Given the description of an element on the screen output the (x, y) to click on. 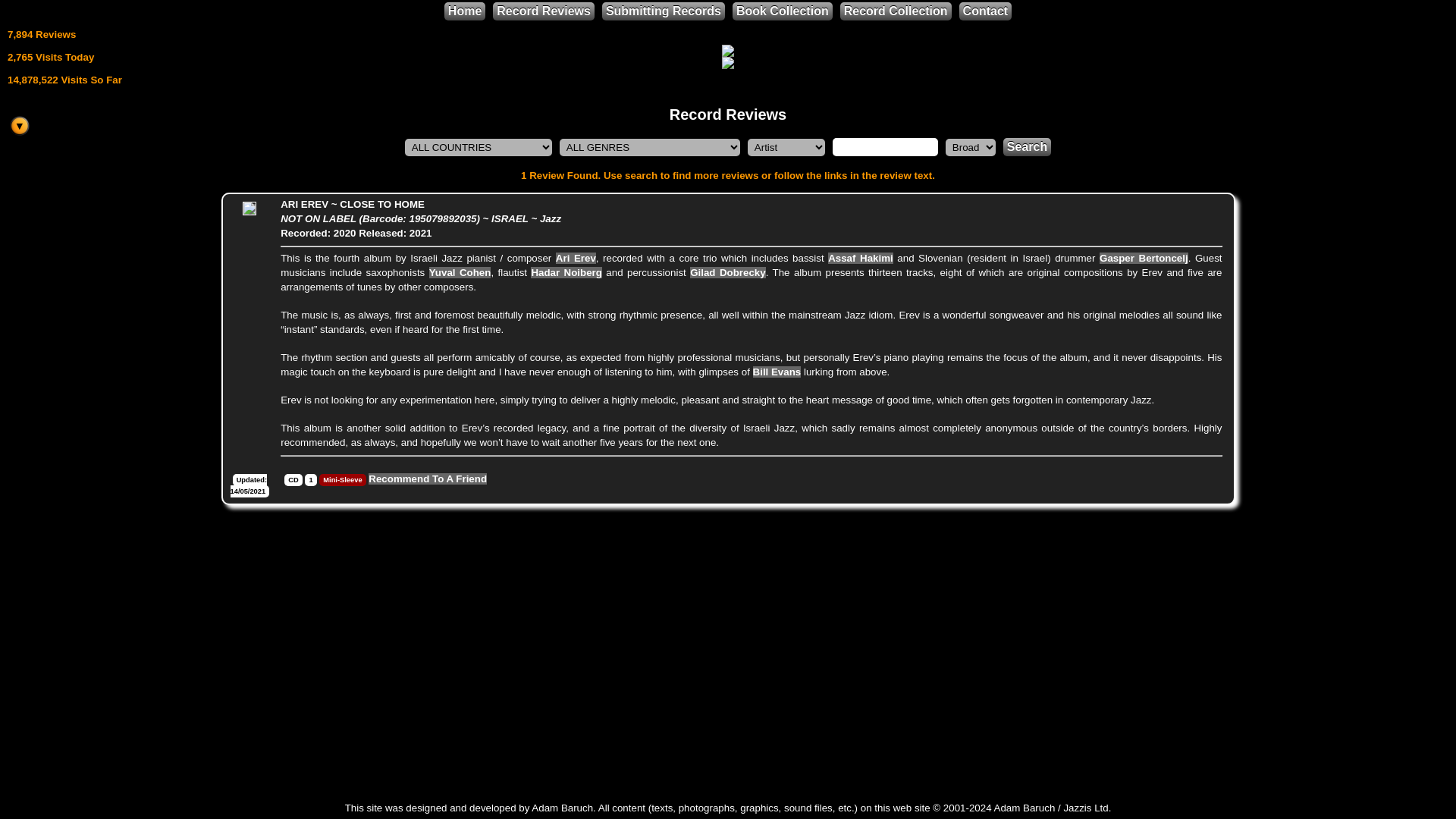
Bill Evans (777, 371)
Gasper Bertoncelj (1143, 257)
Contact (985, 11)
Submitting Records (663, 11)
Record Reviews (543, 11)
Assaf Hakimi (860, 257)
Home (464, 11)
Record Collection (896, 11)
Gilad Dobrecky (727, 272)
Search (1027, 147)
Recommend To A Friend (427, 478)
Ari Erev (575, 257)
Hadar Noiberg (566, 272)
Yuval Cohen (460, 272)
Book Collection (782, 11)
